Given the description of an element on the screen output the (x, y) to click on. 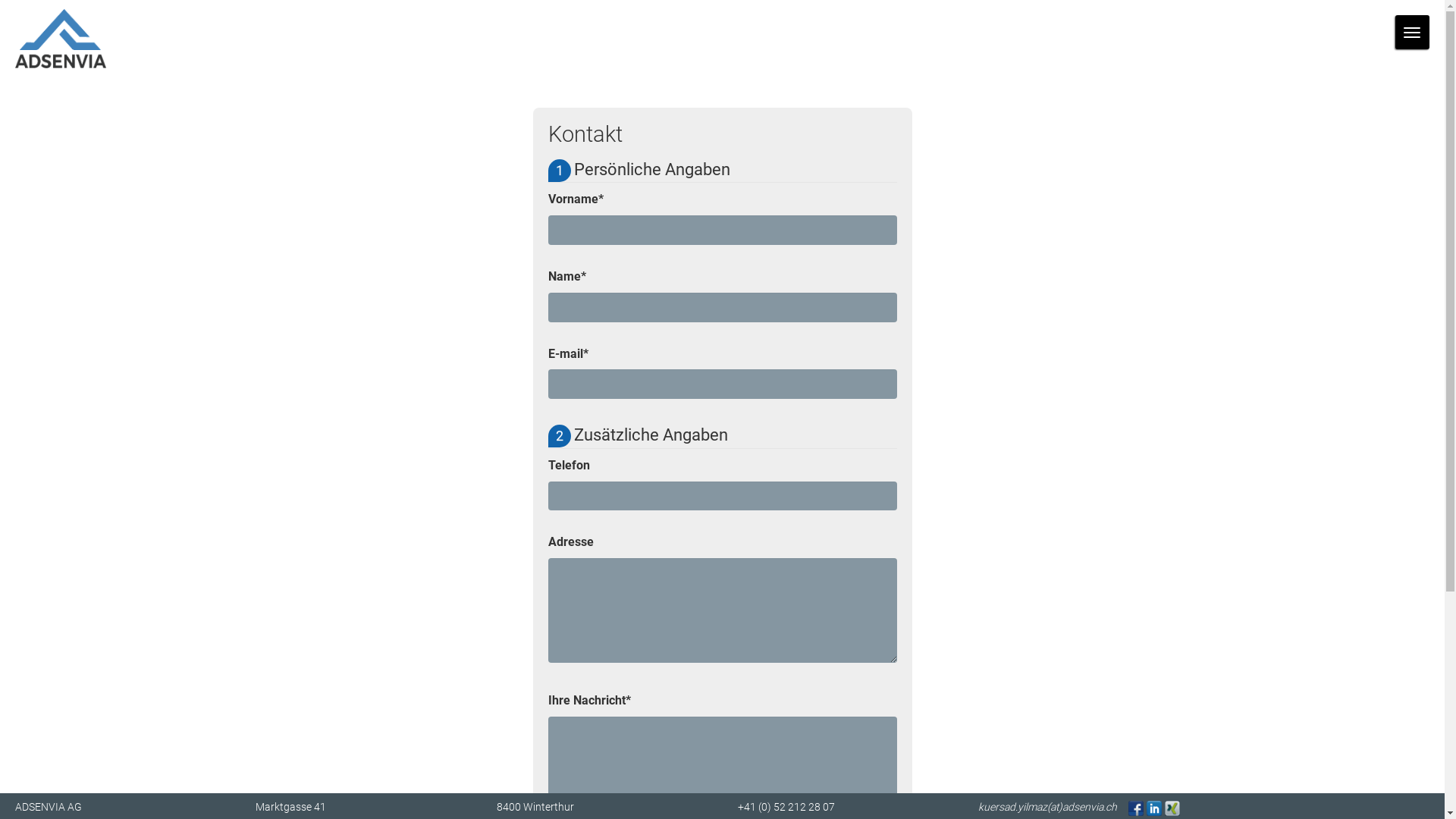
kuersad.yilmaz(at)adsenvia.ch Element type: text (1047, 807)
Toggle navigation Element type: text (1412, 32)
